Given the description of an element on the screen output the (x, y) to click on. 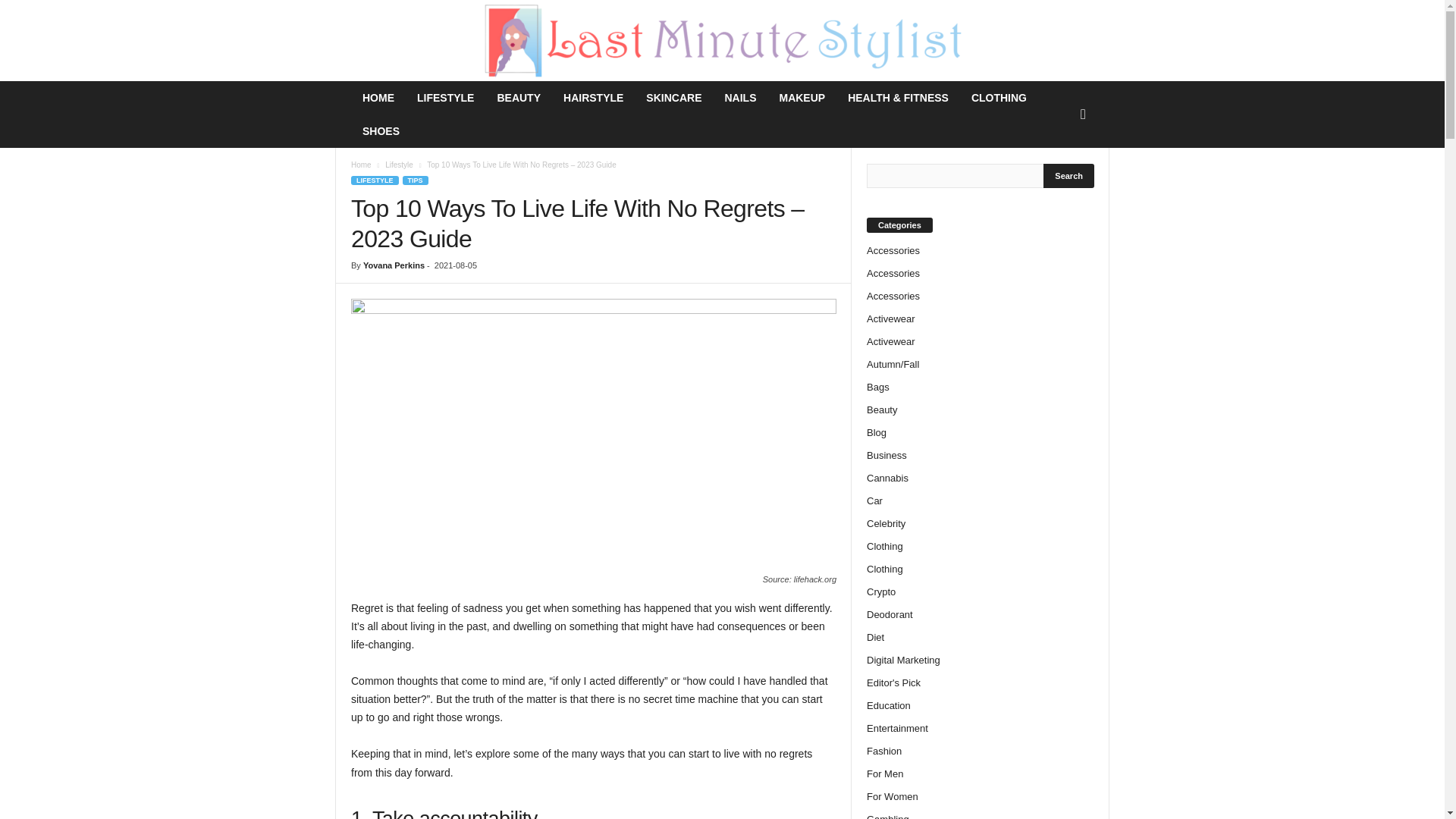
NAILS (740, 97)
LIFESTYLE (445, 97)
HOME (378, 97)
Yovana Perkins (393, 265)
BEAUTY (517, 97)
HAIRSTYLE (592, 97)
TIPS (415, 180)
SKINCARE (673, 97)
LIFESTYLE (374, 180)
Search (1068, 175)
Home (360, 164)
CLOTHING (998, 97)
MAKEUP (801, 97)
SHOES (380, 131)
Lifestyle (399, 164)
